Given the description of an element on the screen output the (x, y) to click on. 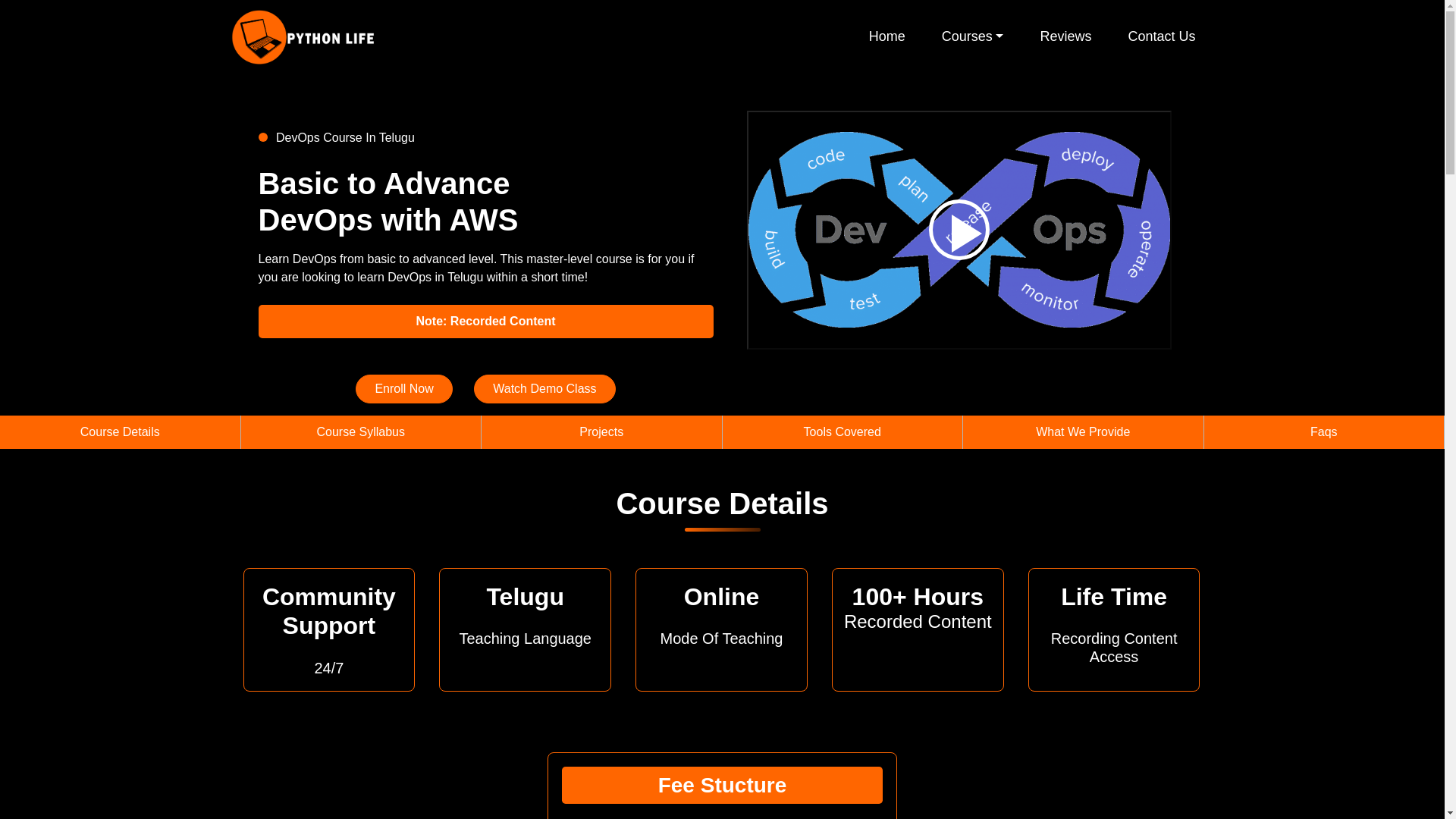
Watch Demo Class (544, 388)
Tools Covered (841, 431)
Enroll Now (403, 388)
Reviews (1065, 36)
Projects (601, 431)
Course Syllabus (361, 431)
Courses (972, 36)
What We Provide (1082, 431)
Faqs (1324, 431)
Home (886, 36)
